Given the description of an element on the screen output the (x, y) to click on. 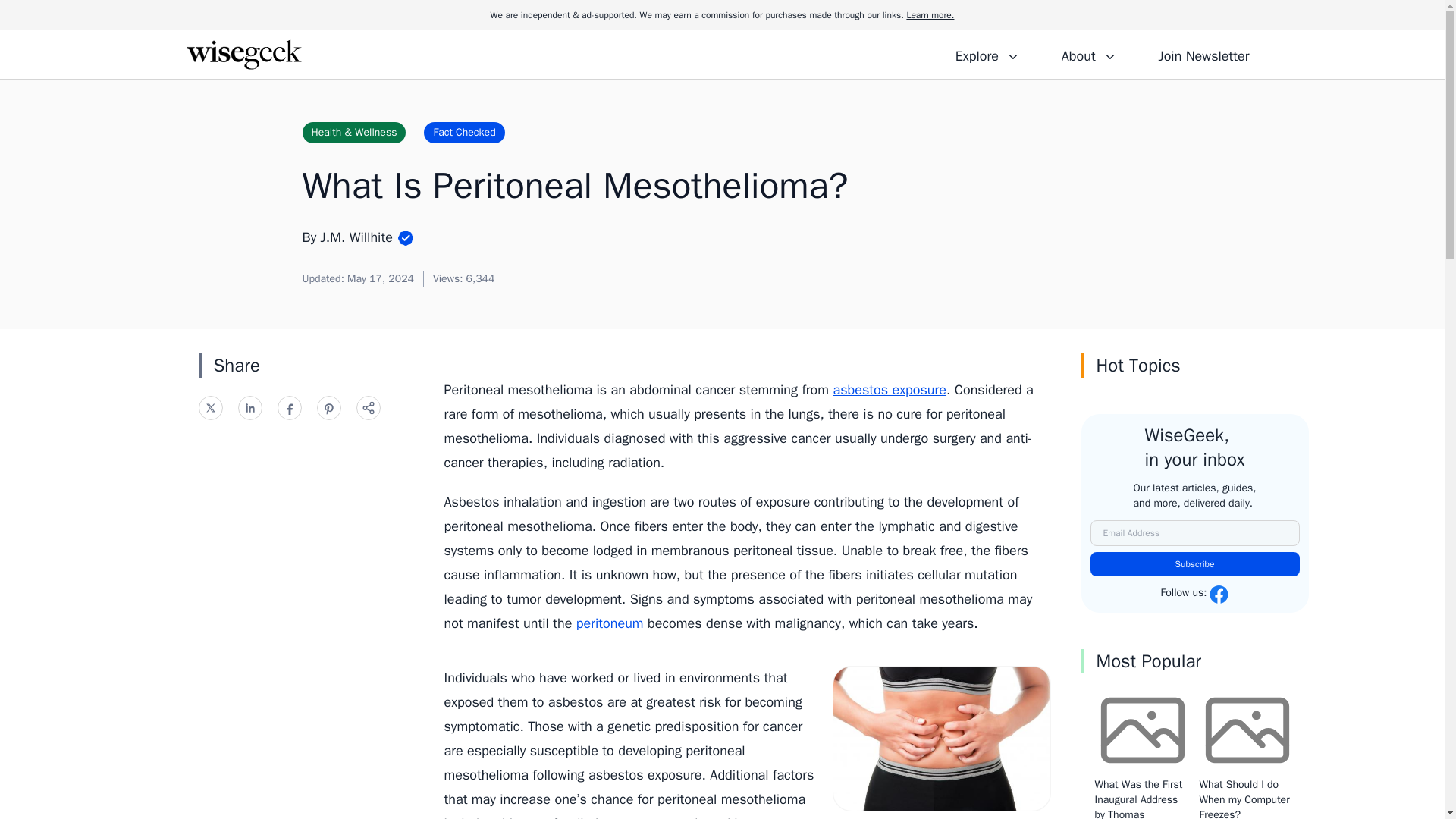
Learn more. (929, 15)
About (1088, 54)
Fact Checked (463, 132)
Join Newsletter (1202, 54)
peritoneum (609, 623)
asbestos exposure (889, 389)
Explore (986, 54)
